Given the description of an element on the screen output the (x, y) to click on. 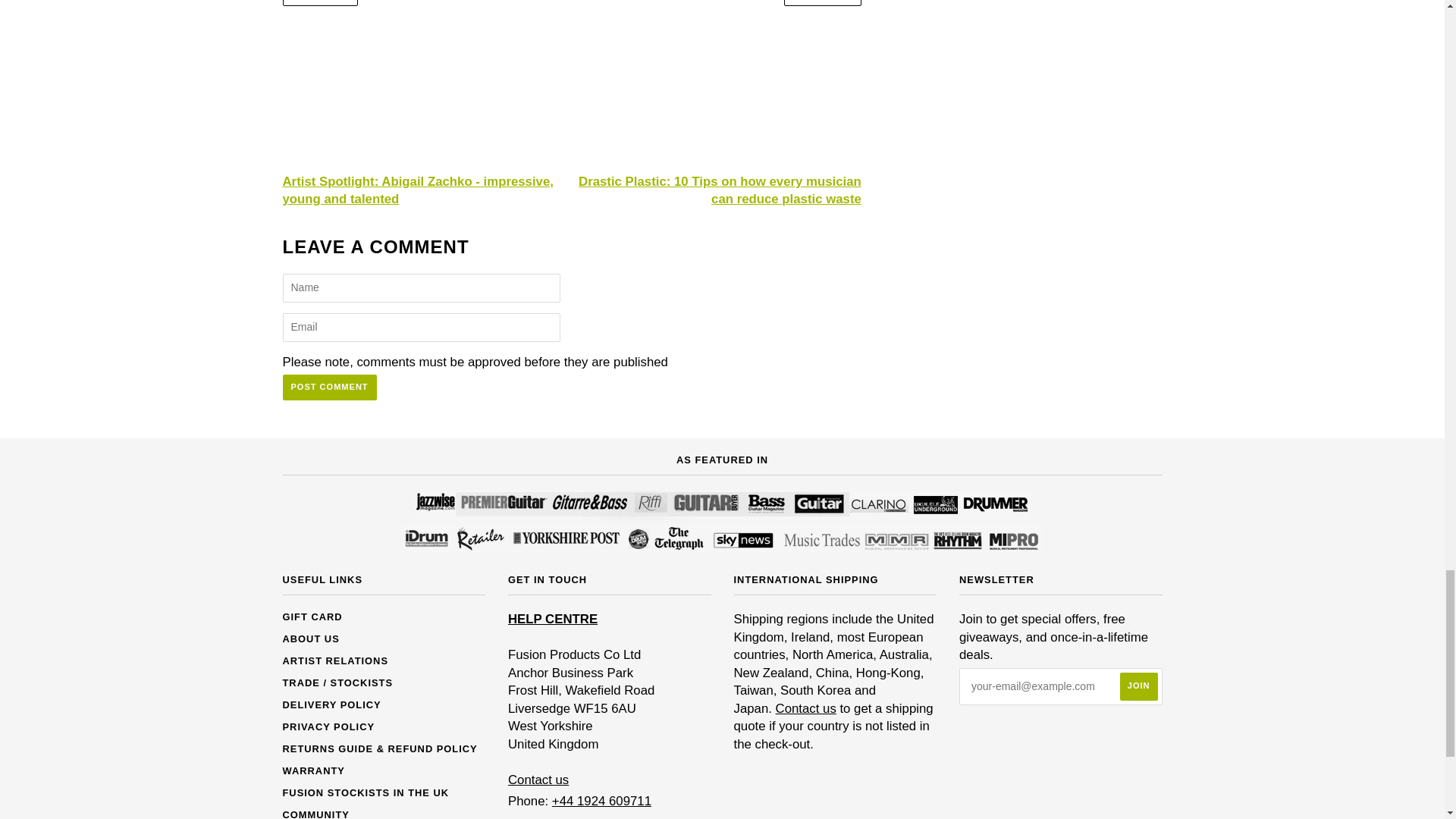
Help Centre (552, 618)
Join (1138, 686)
Post comment (328, 387)
Customer Service (538, 780)
Contact us (805, 708)
